Given the description of an element on the screen output the (x, y) to click on. 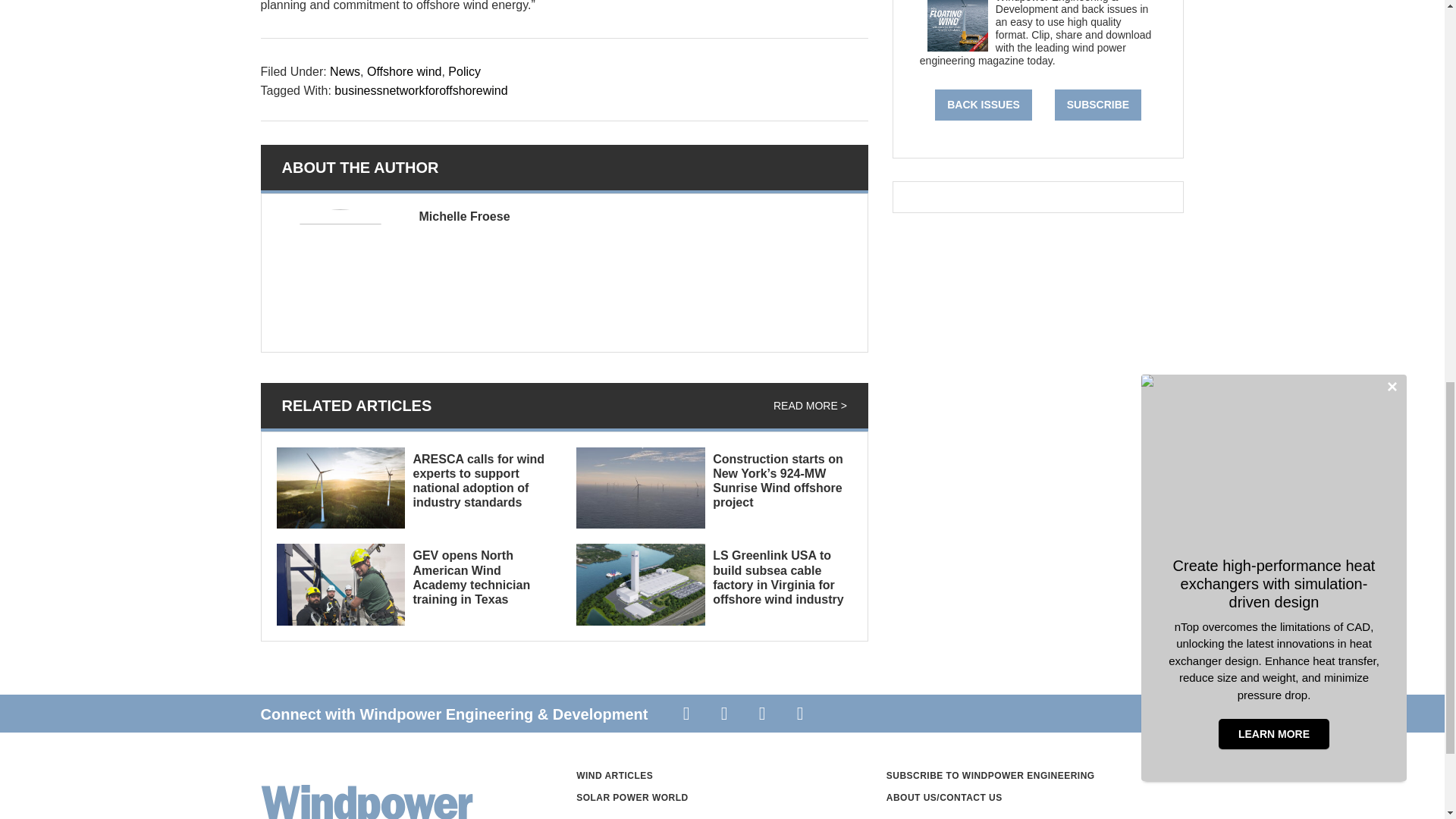
News (344, 71)
Policy (464, 71)
businessnetworkforoffshorewind (420, 90)
Offshore wind (403, 71)
